Given the description of an element on the screen output the (x, y) to click on. 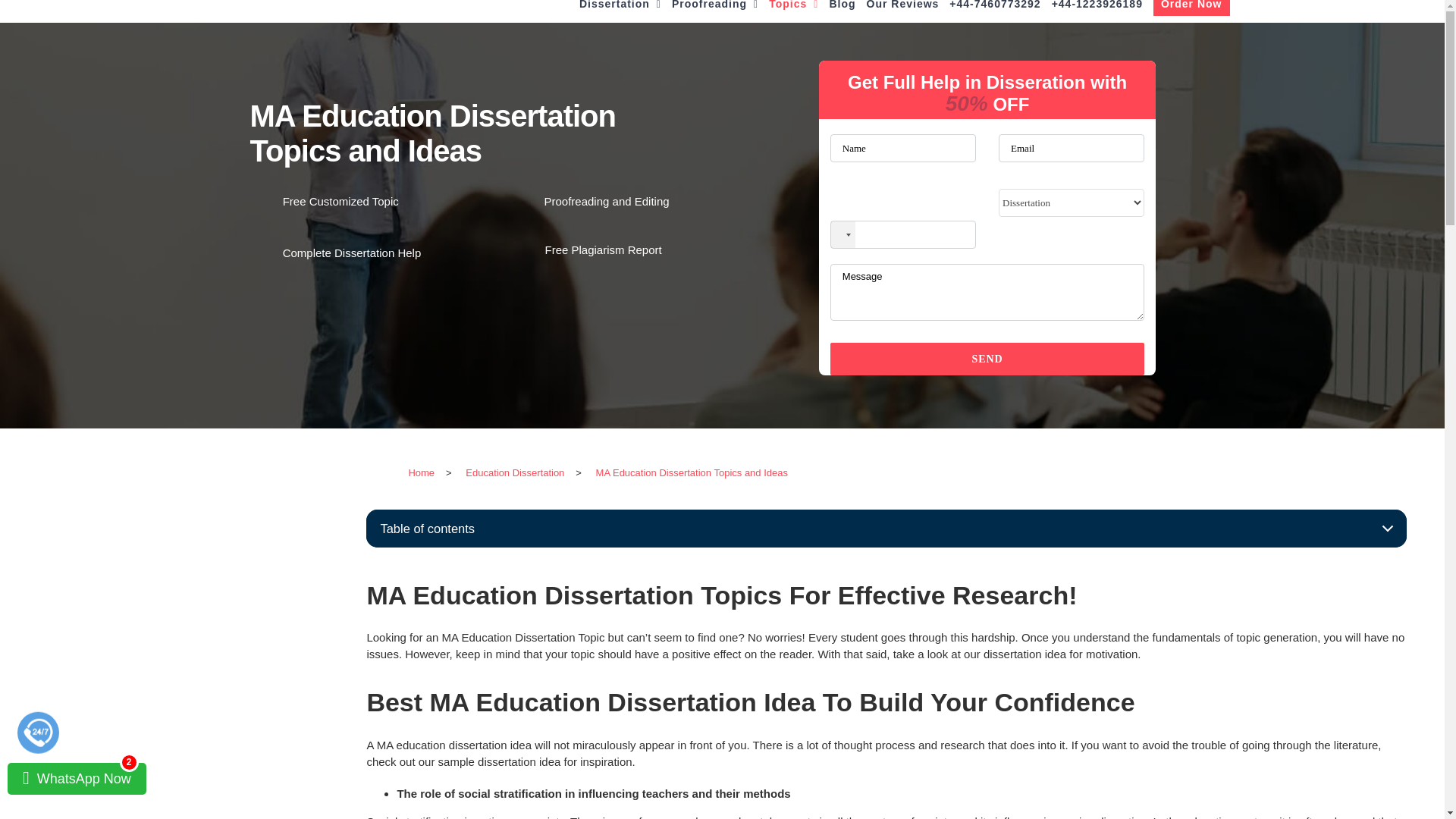
MA Education Dissertation Topics and Ideas (691, 473)
Home (421, 473)
Dissertation (620, 11)
Education Dissertation (515, 473)
Send (986, 359)
